Given the description of an element on the screen output the (x, y) to click on. 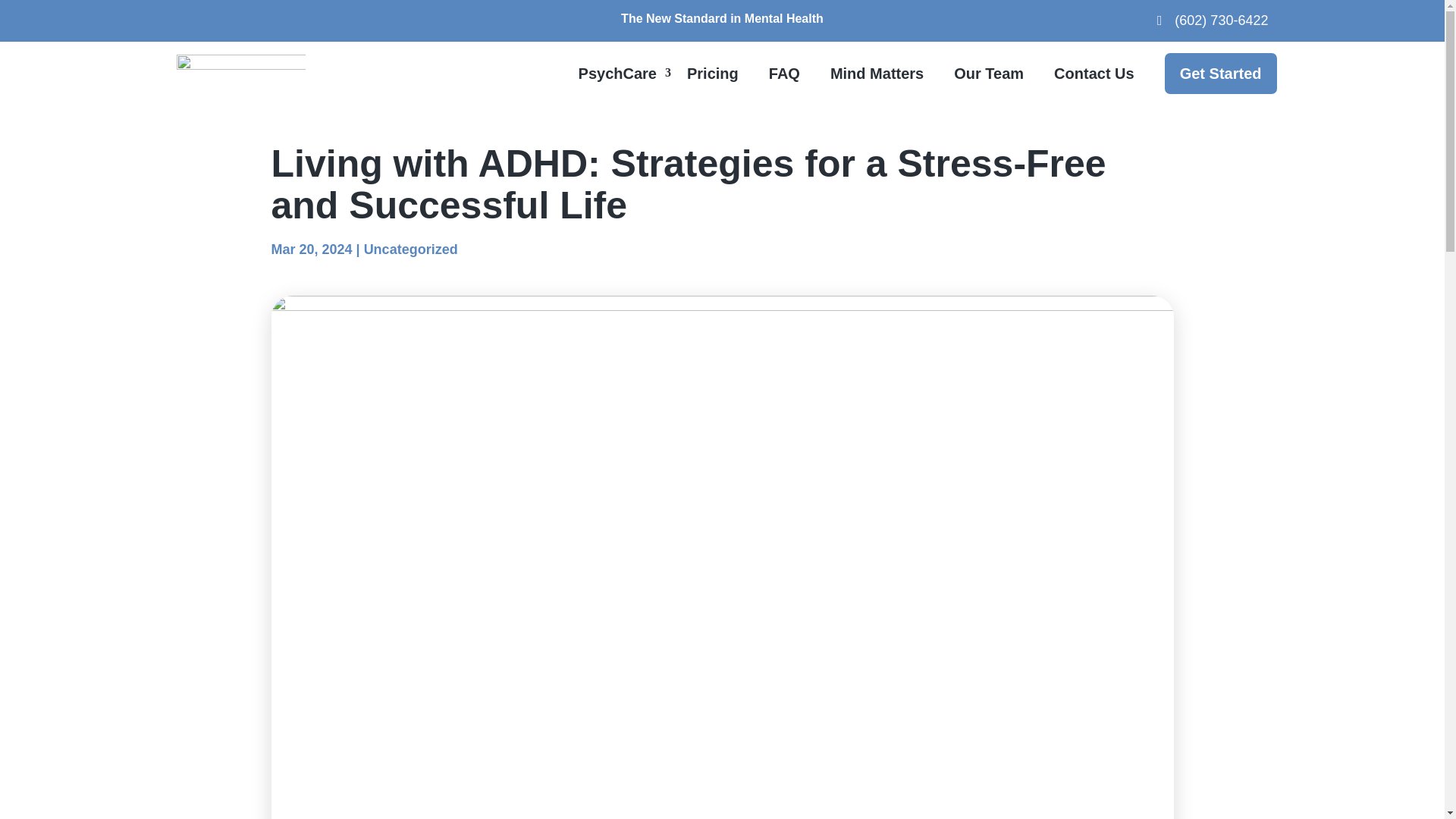
Our Team (988, 73)
Get Started (1220, 73)
PsychCare (617, 73)
platinum-psychiatry (240, 72)
Contact Us (1094, 73)
Mind Matters (876, 73)
Pricing (712, 73)
Uncategorized (411, 249)
